Given the description of an element on the screen output the (x, y) to click on. 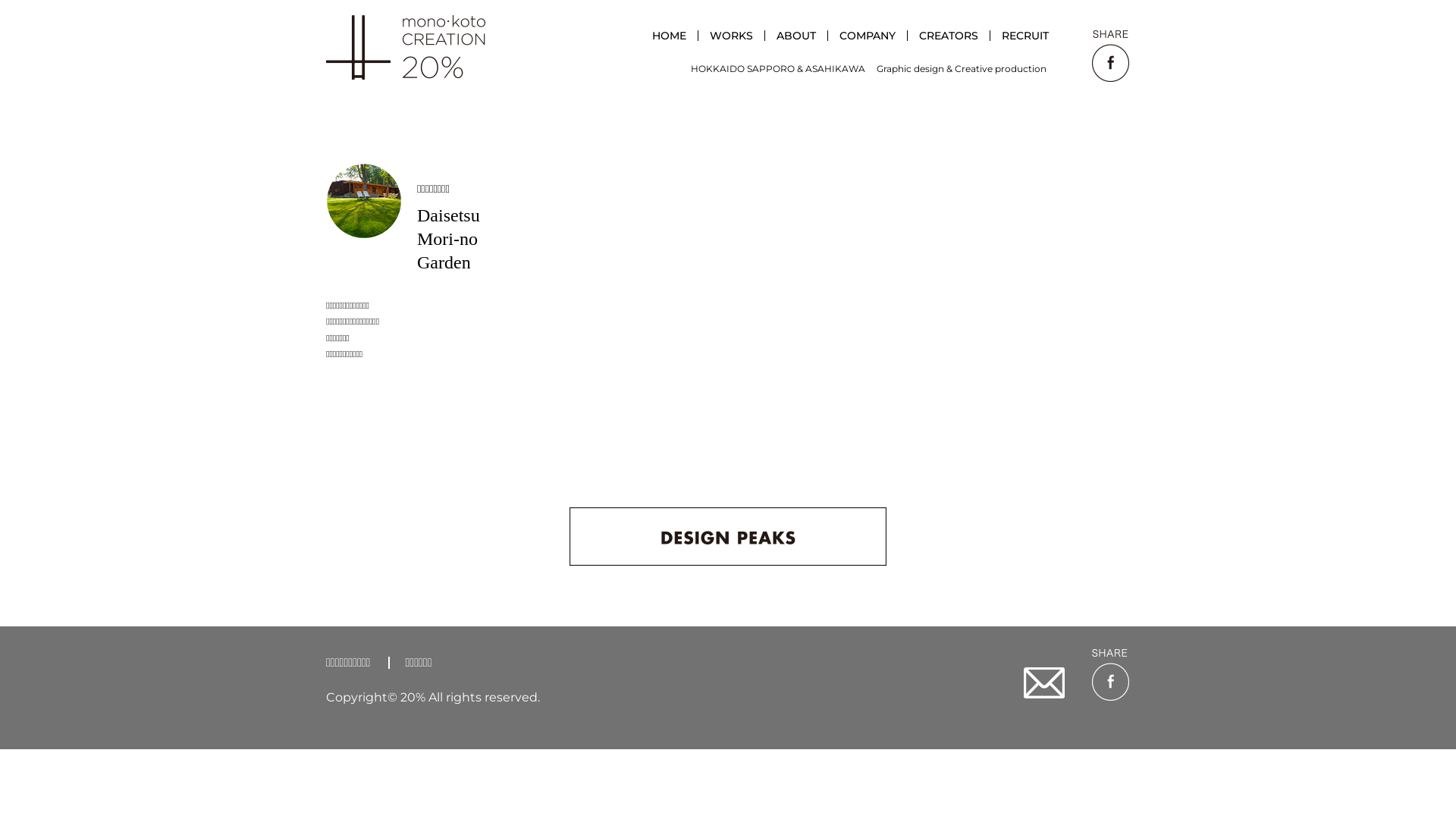
CREATORS Element type: text (948, 35)
HOME Element type: text (669, 35)
RECRUIT Element type: text (1024, 35)
creative unit 20% Element type: text (405, 47)
ABOUT Element type: text (795, 35)
WORKS Element type: text (731, 35)
COMPANY Element type: text (867, 35)
